Given the description of an element on the screen output the (x, y) to click on. 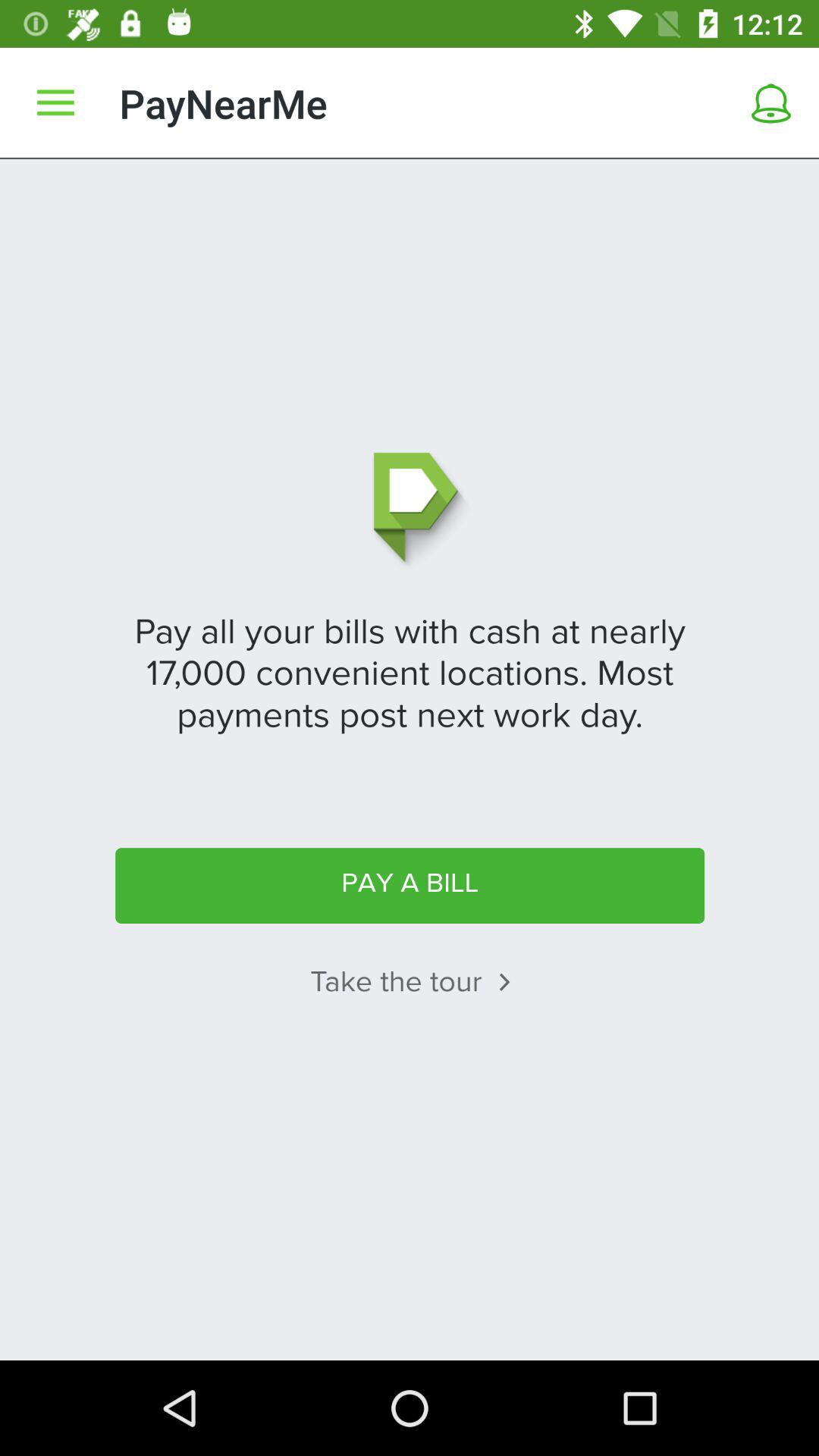
notification button (771, 103)
